Given the description of an element on the screen output the (x, y) to click on. 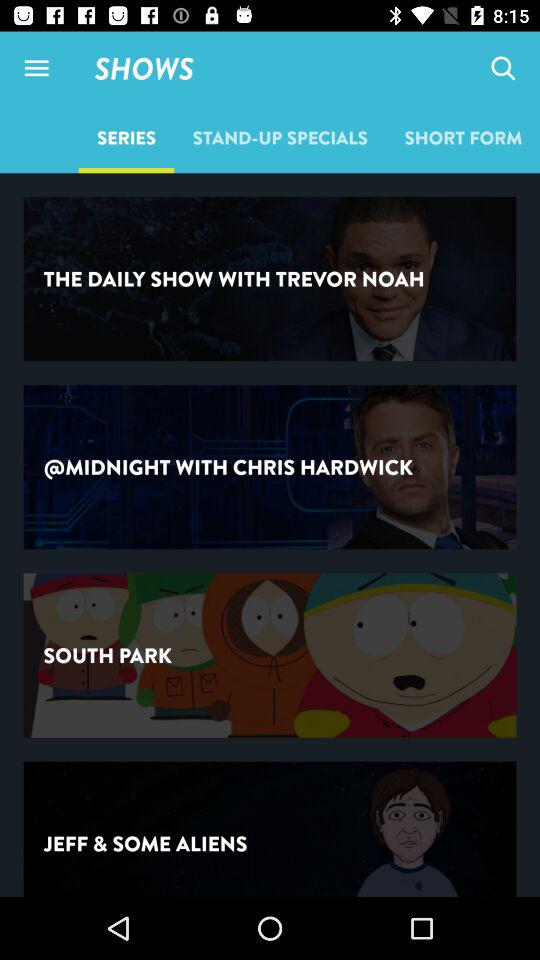
swipe until short form icon (463, 137)
